Given the description of an element on the screen output the (x, y) to click on. 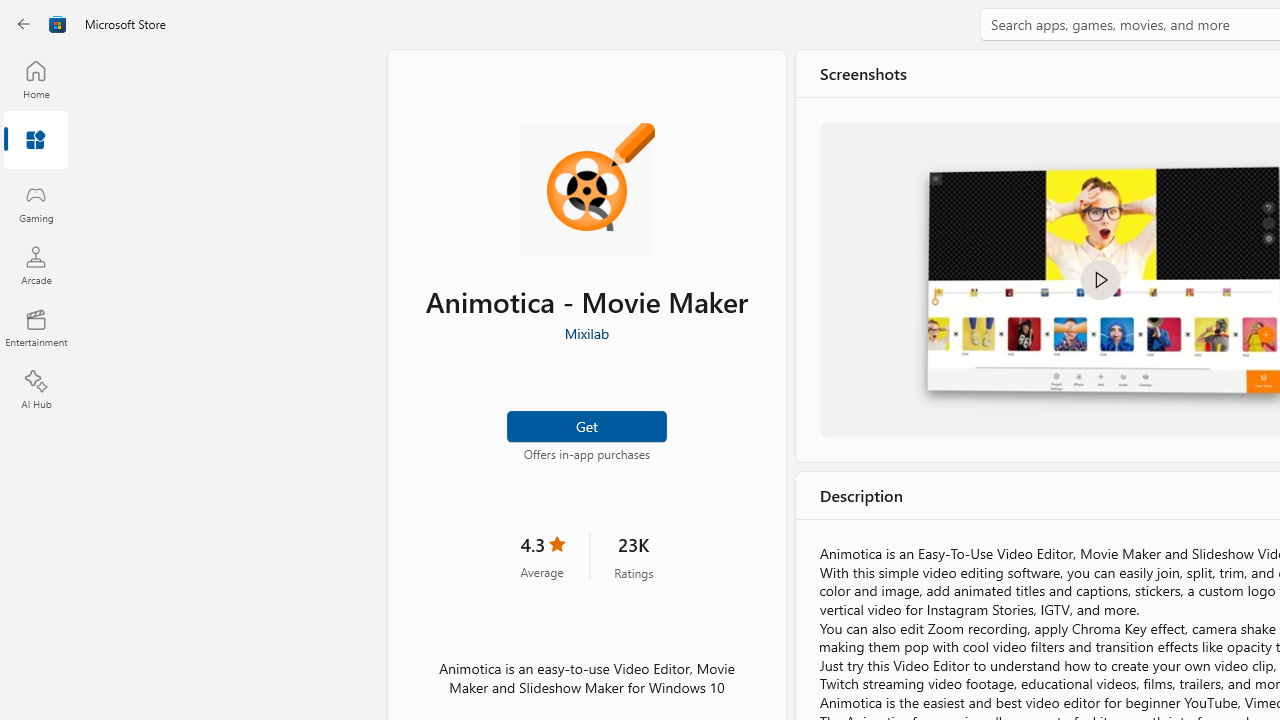
Home (35, 79)
Arcade (35, 265)
Get (586, 424)
Class: Image (58, 24)
4.3 stars. Click to skip to ratings and reviews (542, 556)
AI Hub (35, 390)
Apps (35, 141)
Back (24, 24)
Mixilab (586, 333)
Gaming (35, 203)
Entertainment (35, 327)
